Given the description of an element on the screen output the (x, y) to click on. 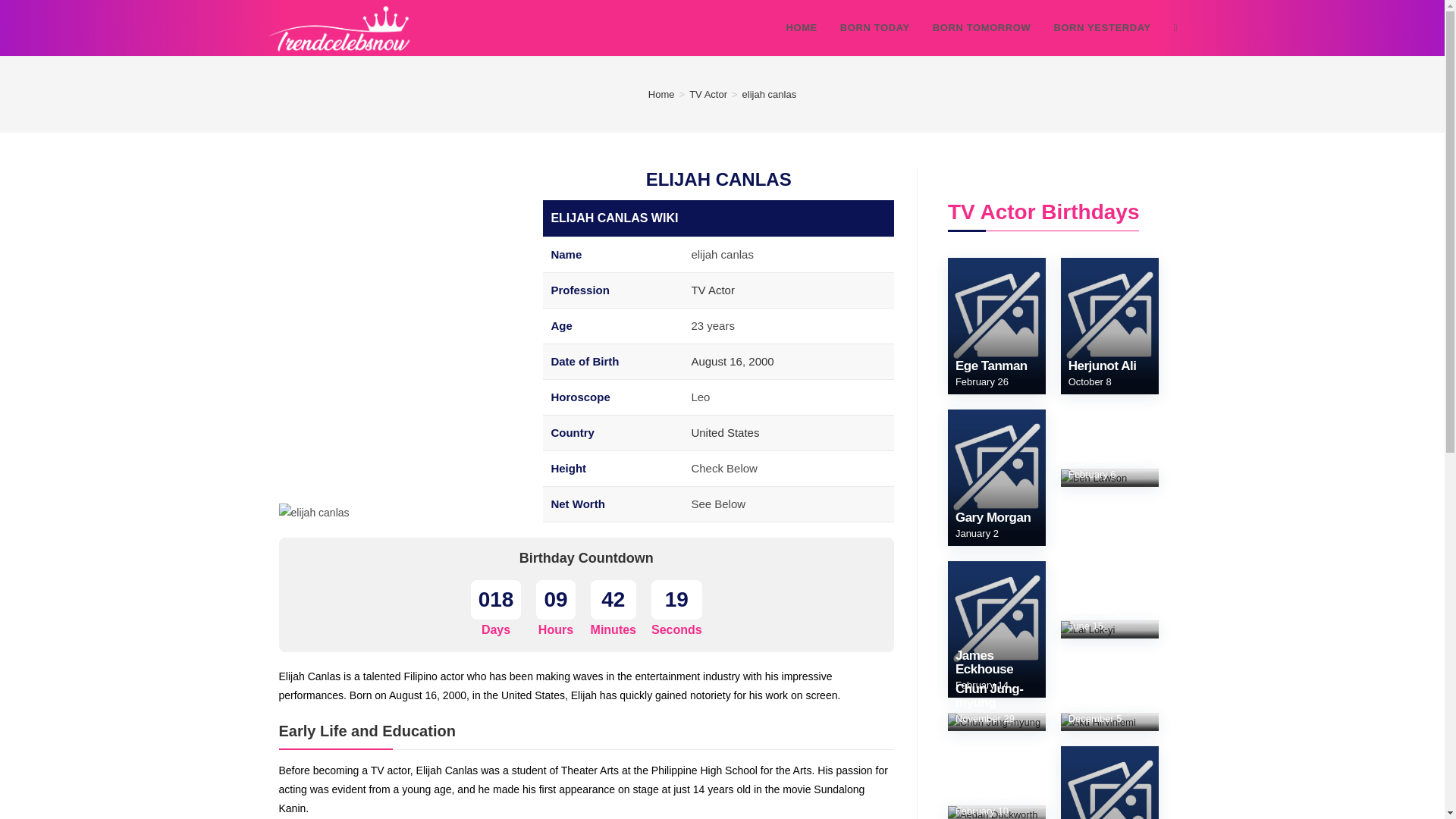
TV Actor (712, 289)
TV Actor (707, 93)
Home (661, 93)
HOME (801, 28)
BORN YESTERDAY (1101, 28)
United States (724, 431)
2000 (760, 360)
August 16 (716, 360)
BORN TOMORROW (981, 28)
elijah canlas (769, 93)
BORN TODAY (874, 28)
elijah canlas (314, 512)
TOGGLE WEBSITE SEARCH (1175, 28)
